Given the description of an element on the screen output the (x, y) to click on. 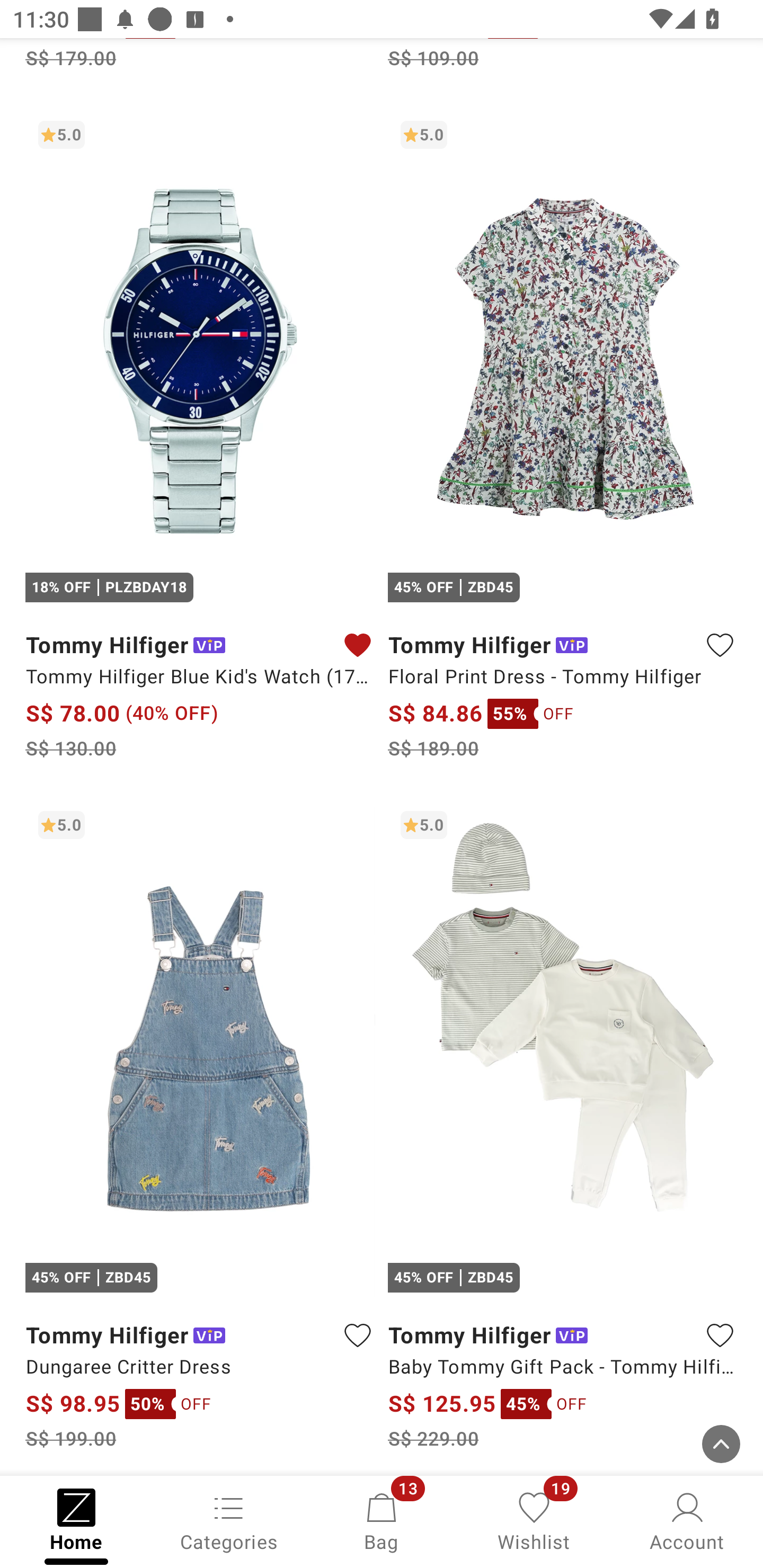
Categories (228, 1519)
Bag, 13 new notifications Bag (381, 1519)
Wishlist, 19 new notifications Wishlist (533, 1519)
Account (686, 1519)
